Given the description of an element on the screen output the (x, y) to click on. 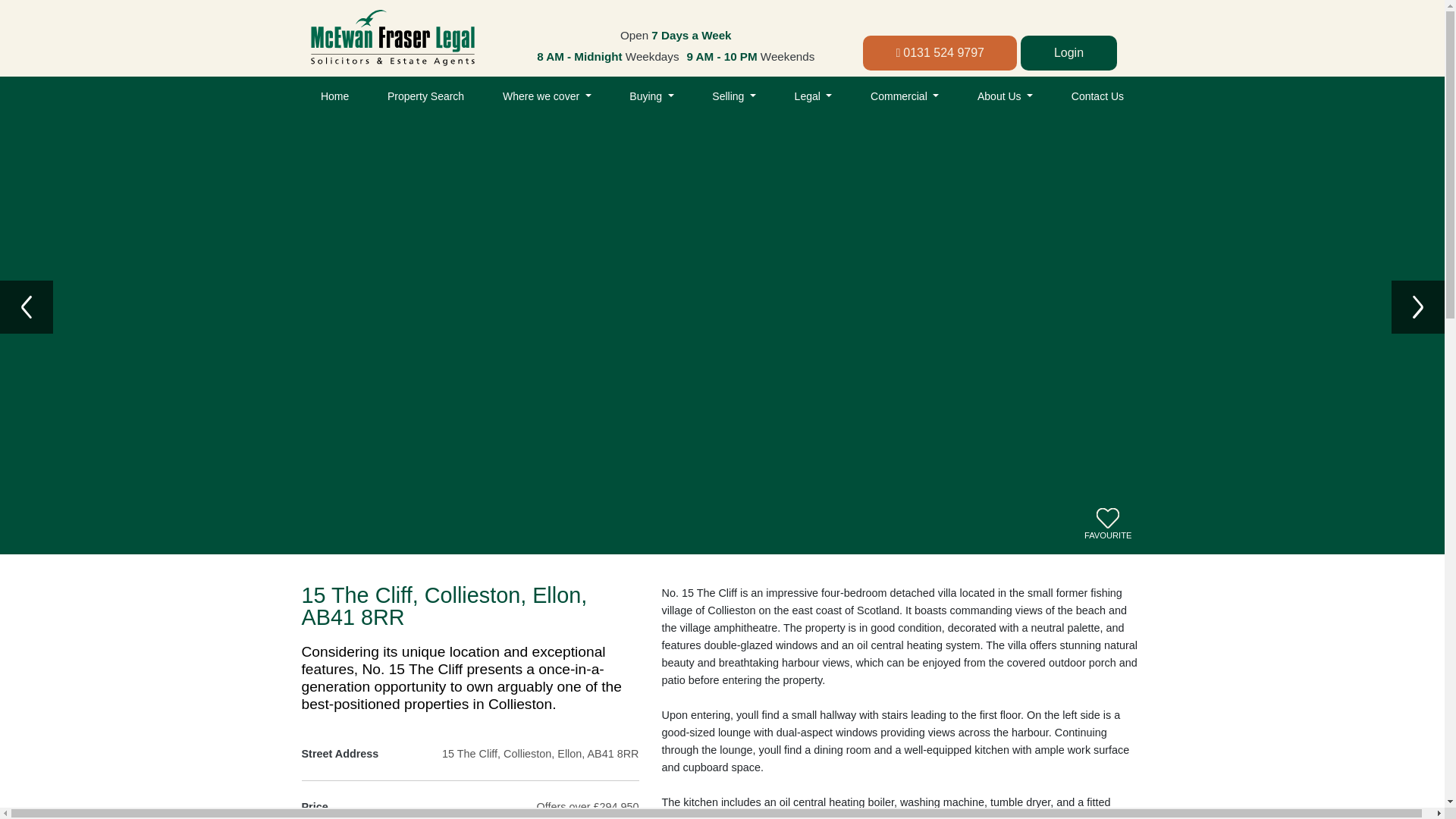
Login (1068, 53)
Property Search (425, 96)
Where we cover (546, 96)
Home (334, 96)
Buying (651, 96)
0131 524 9797 (940, 53)
